Given the description of an element on the screen output the (x, y) to click on. 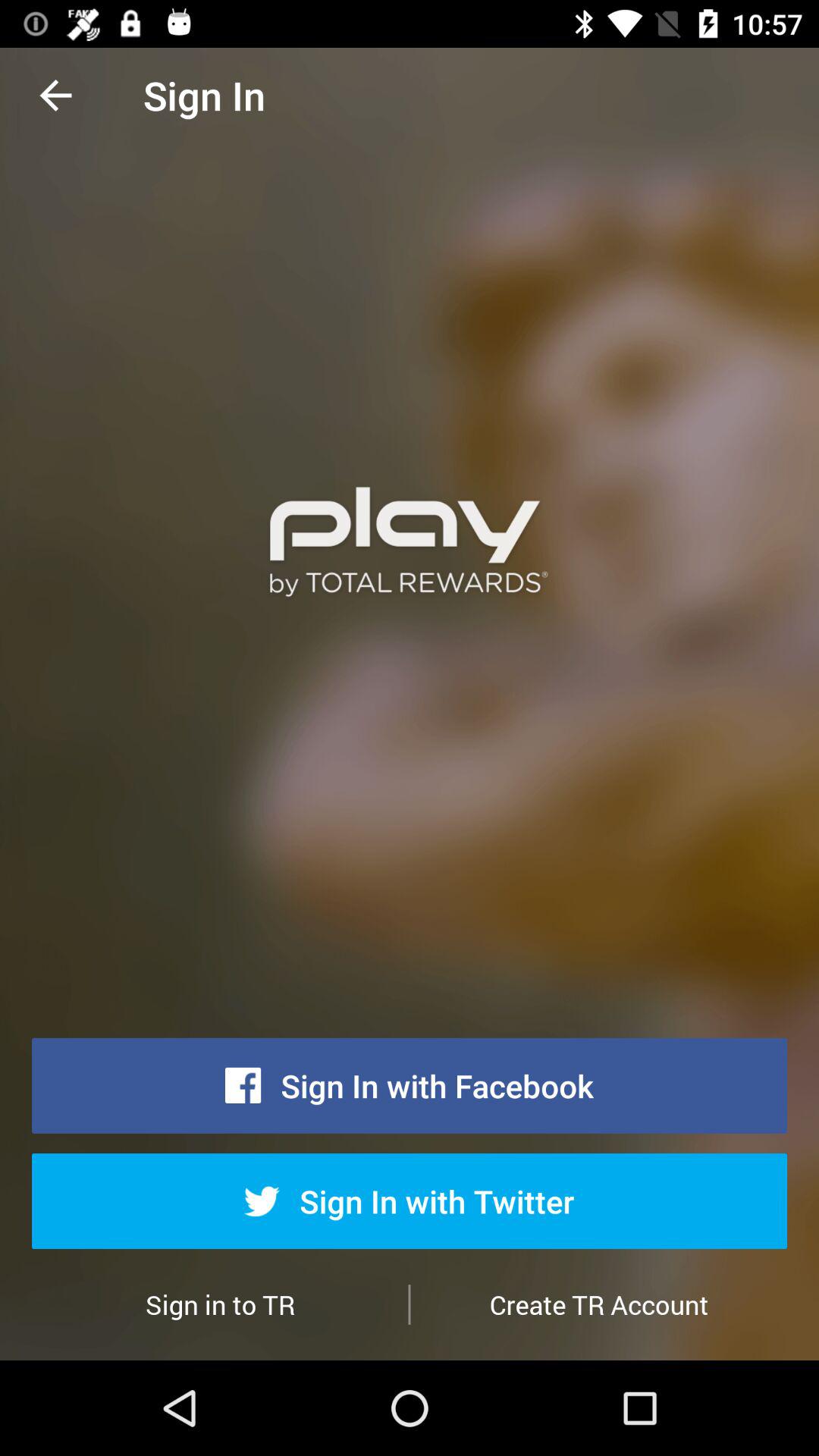
open the item to the left of the sign in icon (55, 95)
